Given the description of an element on the screen output the (x, y) to click on. 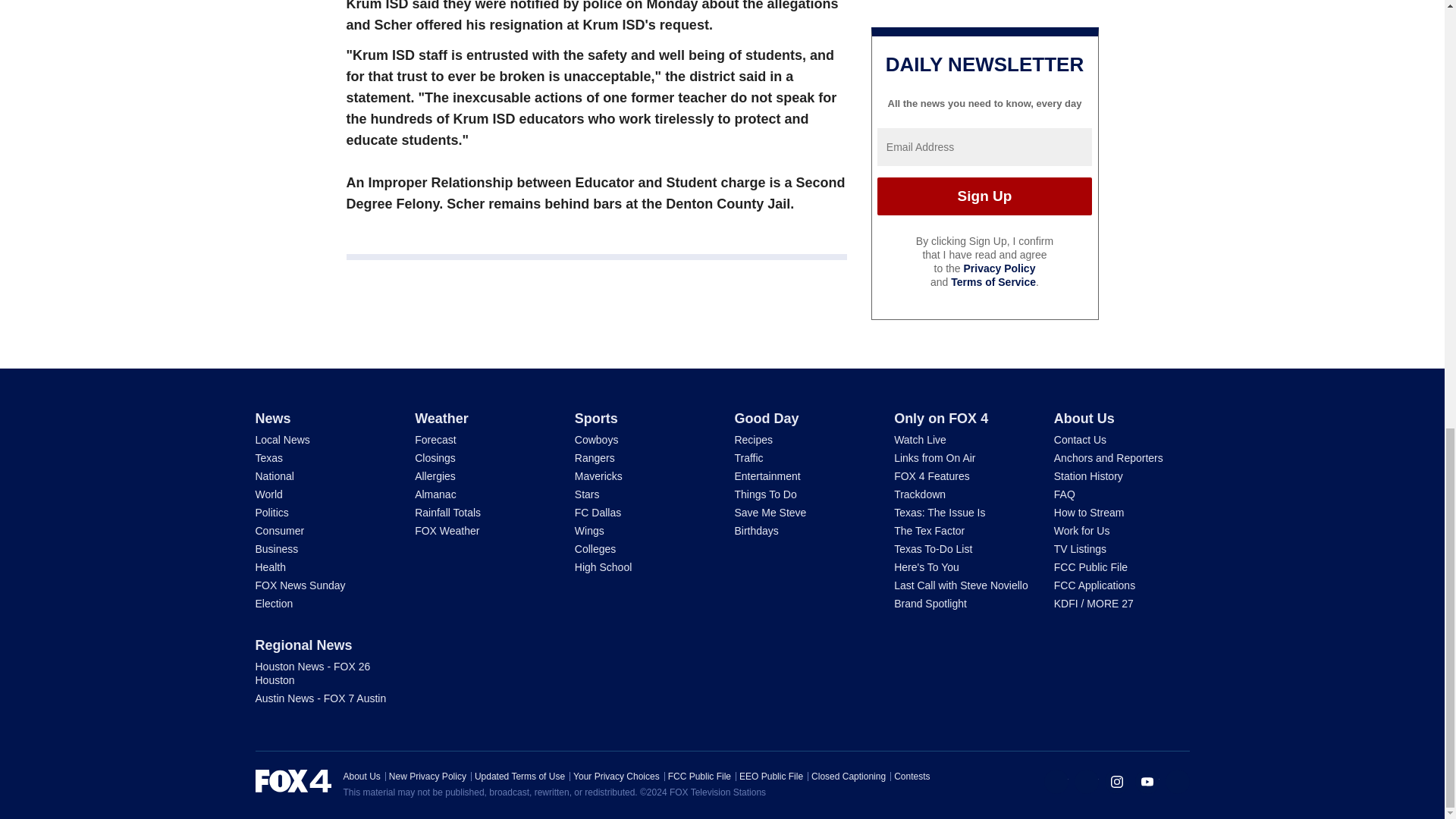
Sign Up (984, 196)
